Given the description of an element on the screen output the (x, y) to click on. 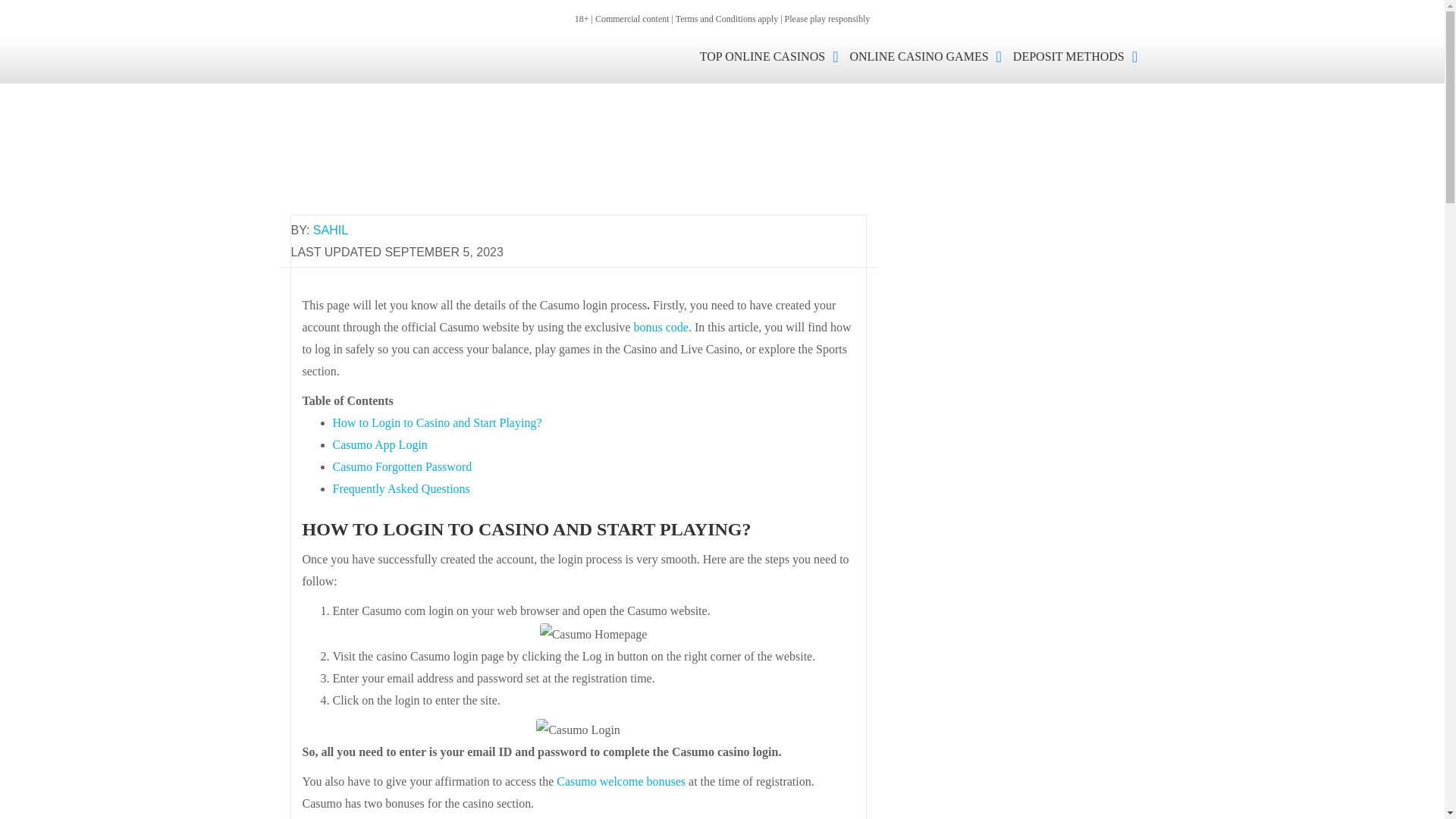
Top Online Casinos (775, 56)
Online Casino Games (929, 56)
TOP ONLINE CASINOS (775, 56)
DEPOSIT METHODS (1080, 56)
ONLINE CASINO GAMES (929, 56)
